Given the description of an element on the screen output the (x, y) to click on. 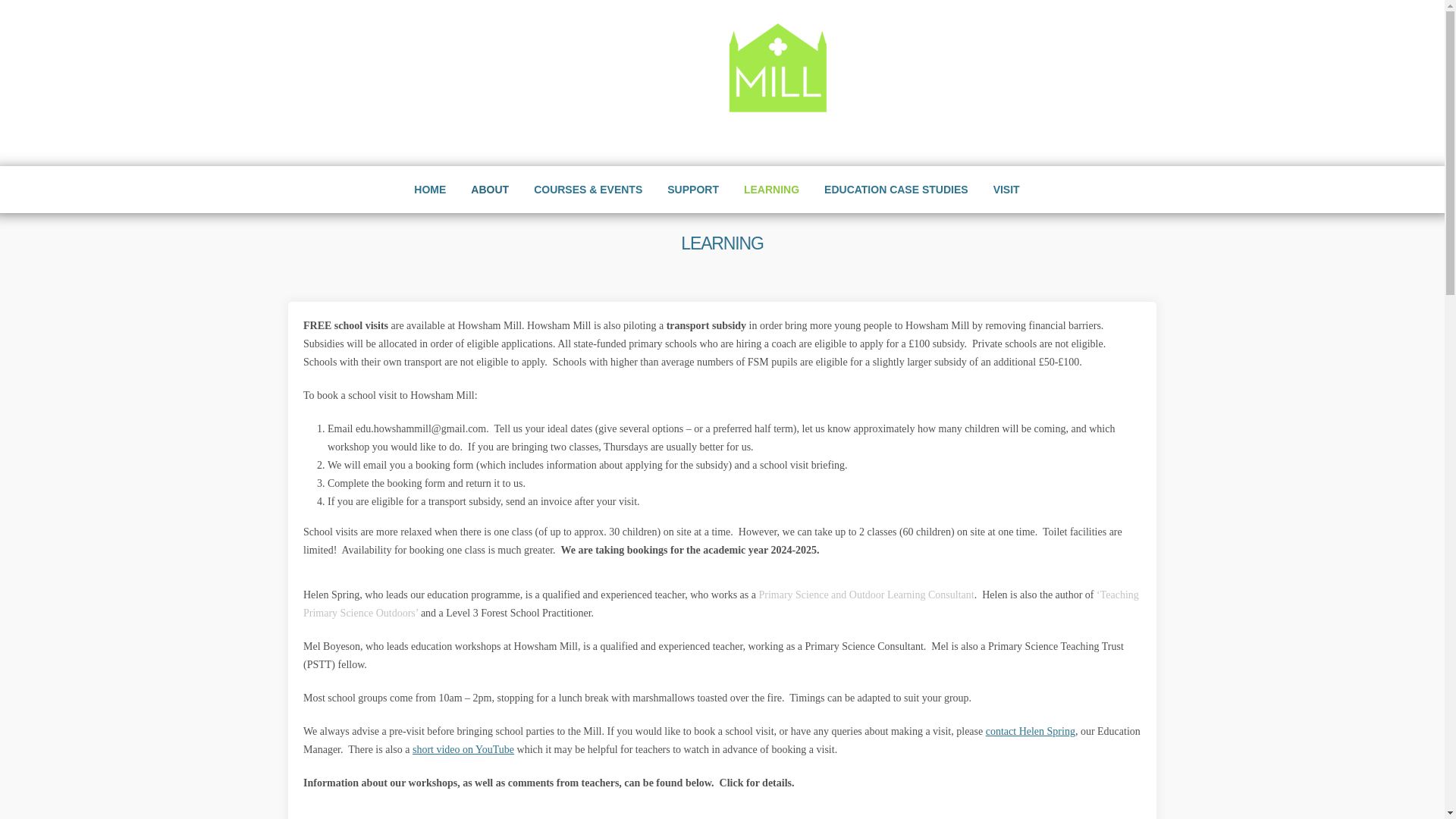
short video on YouTube (462, 749)
Primary Science and Outdoor Learning Consultant (866, 594)
SUPPORT (692, 189)
ABOUT (489, 189)
HOME (429, 189)
EDUCATION CASE STUDIES (895, 189)
VISIT (1006, 189)
LEARNING (771, 189)
contact Helen Spring (1030, 731)
